Given the description of an element on the screen output the (x, y) to click on. 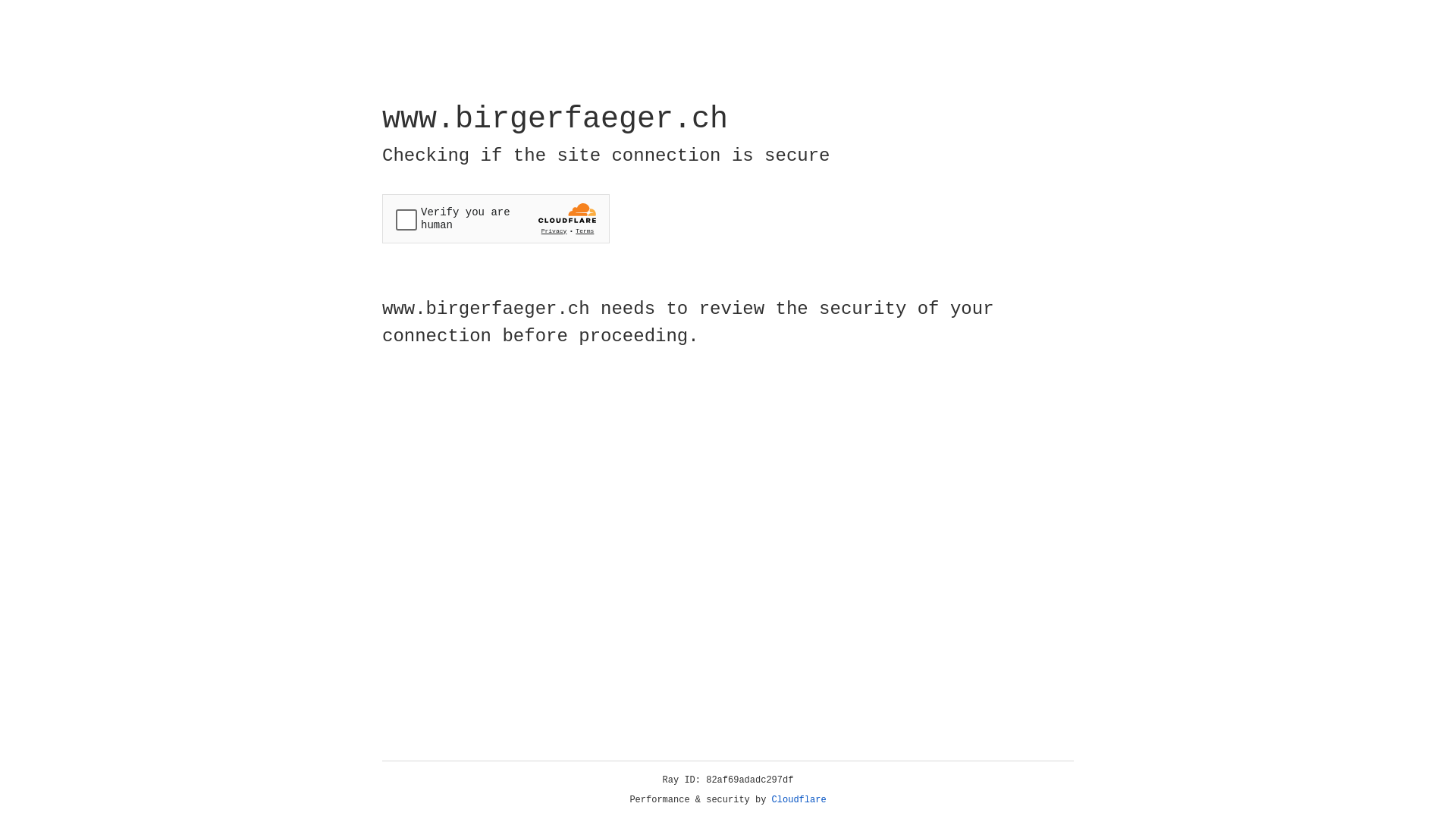
Widget containing a Cloudflare security challenge Element type: hover (495, 218)
Cloudflare Element type: text (798, 799)
